Given the description of an element on the screen output the (x, y) to click on. 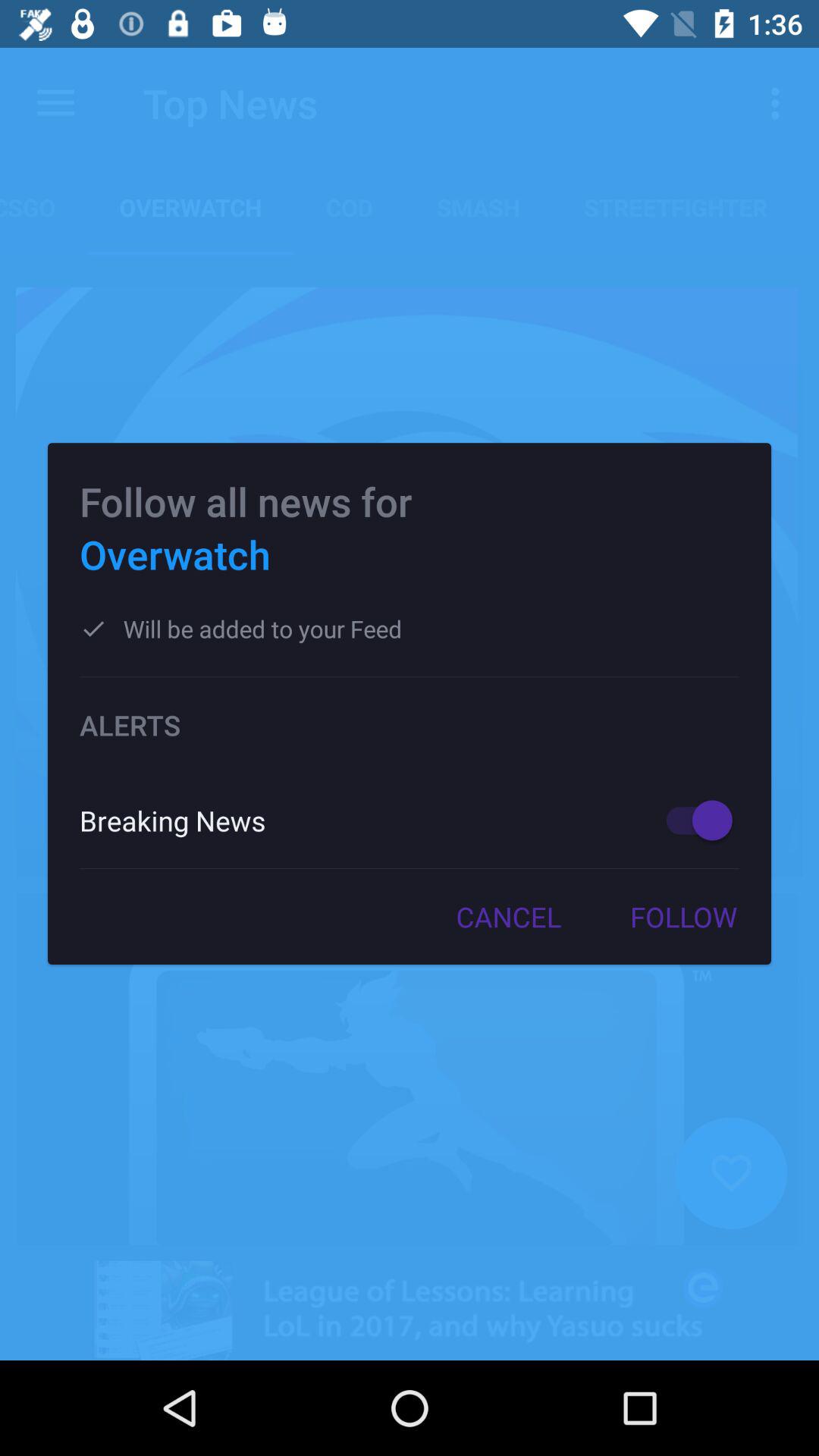
turn on breaking news icon (356, 820)
